Given the description of an element on the screen output the (x, y) to click on. 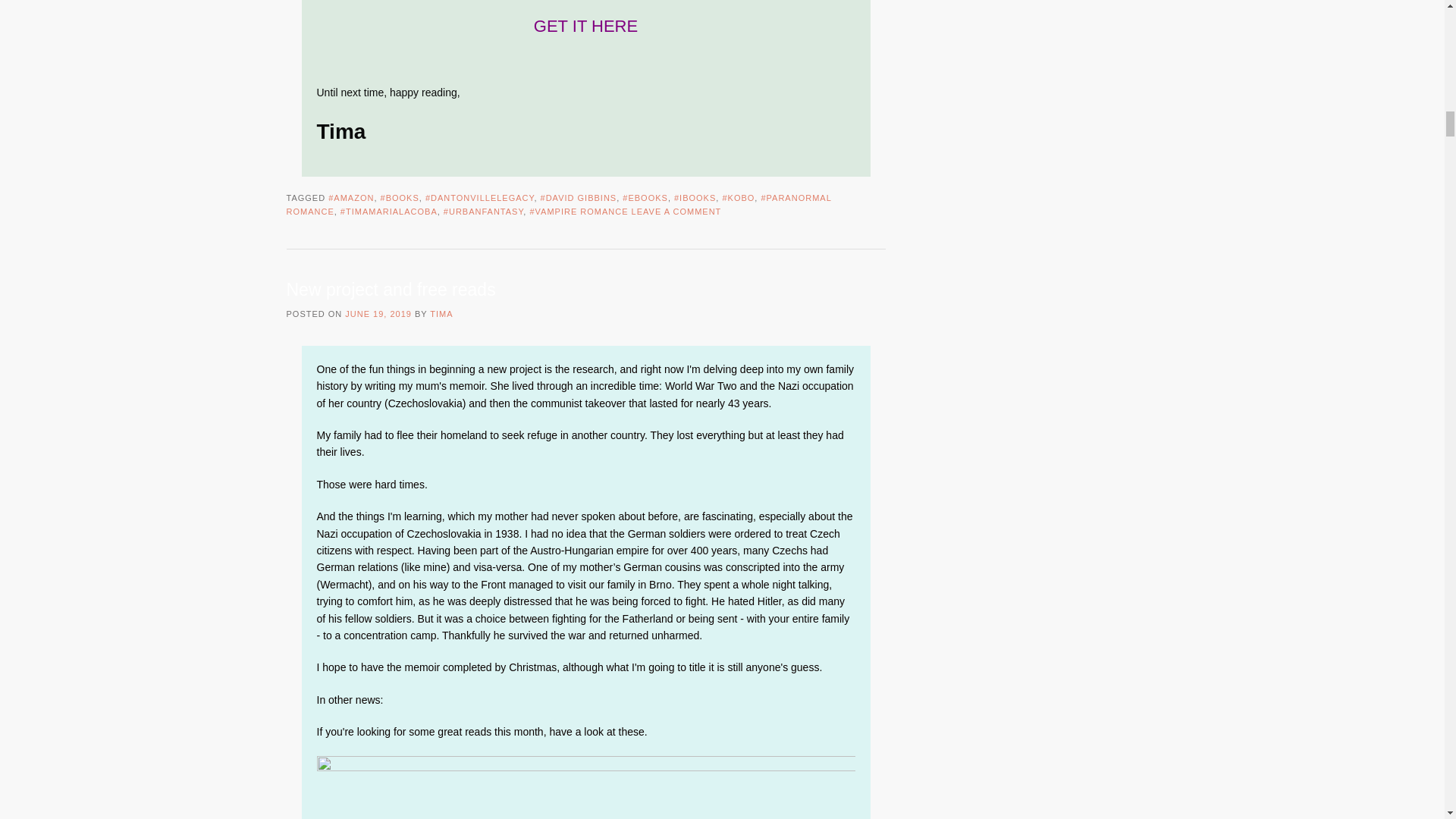
LEAVE A COMMENT (676, 211)
GET IT HERE (585, 26)
